Given the description of an element on the screen output the (x, y) to click on. 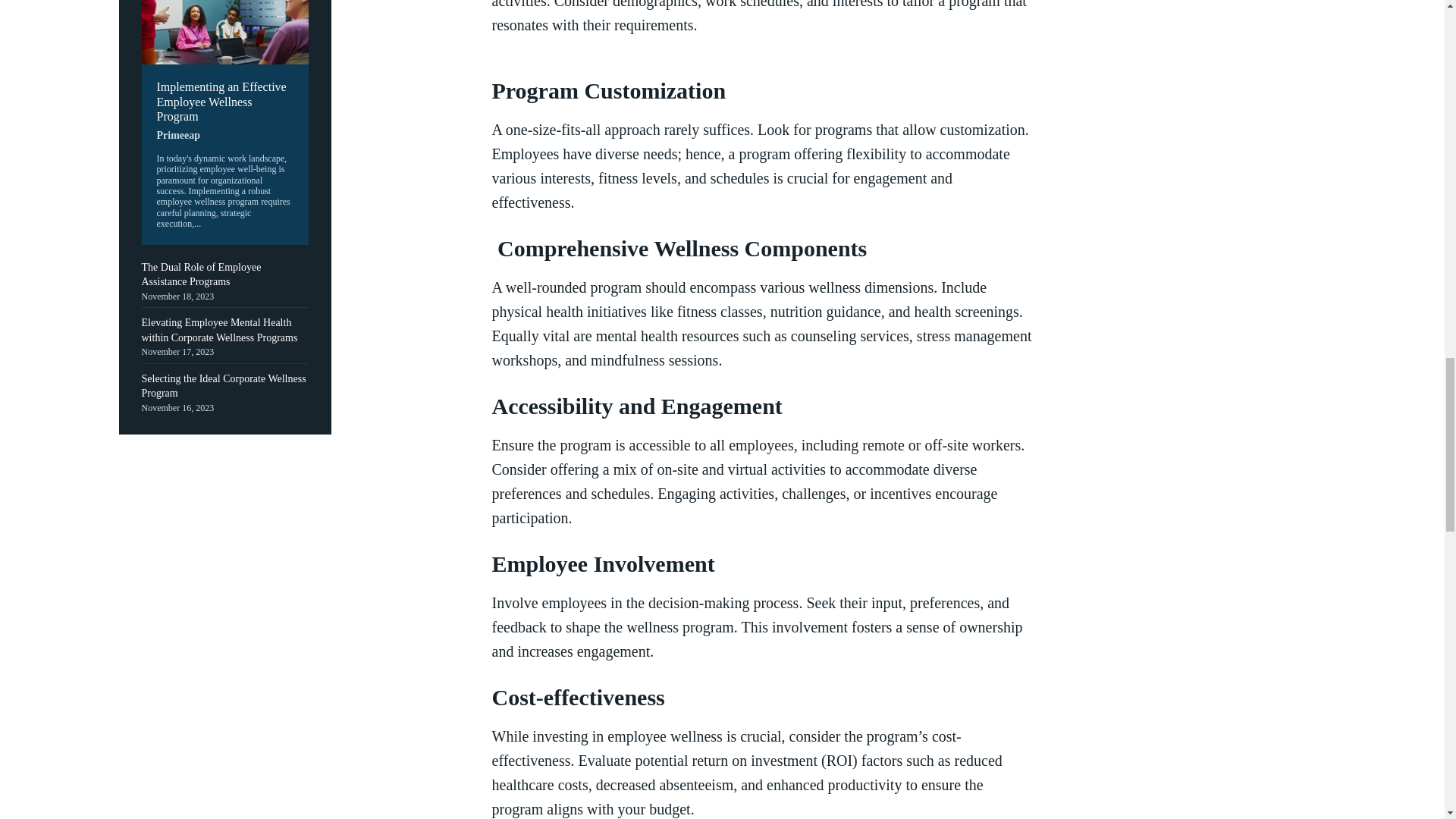
Implementing an Effective Employee Wellness Program (220, 101)
The Dual Role of Employee Assistance Programs (200, 274)
Implementing an Effective Employee Wellness Program (224, 32)
